Given the description of an element on the screen output the (x, y) to click on. 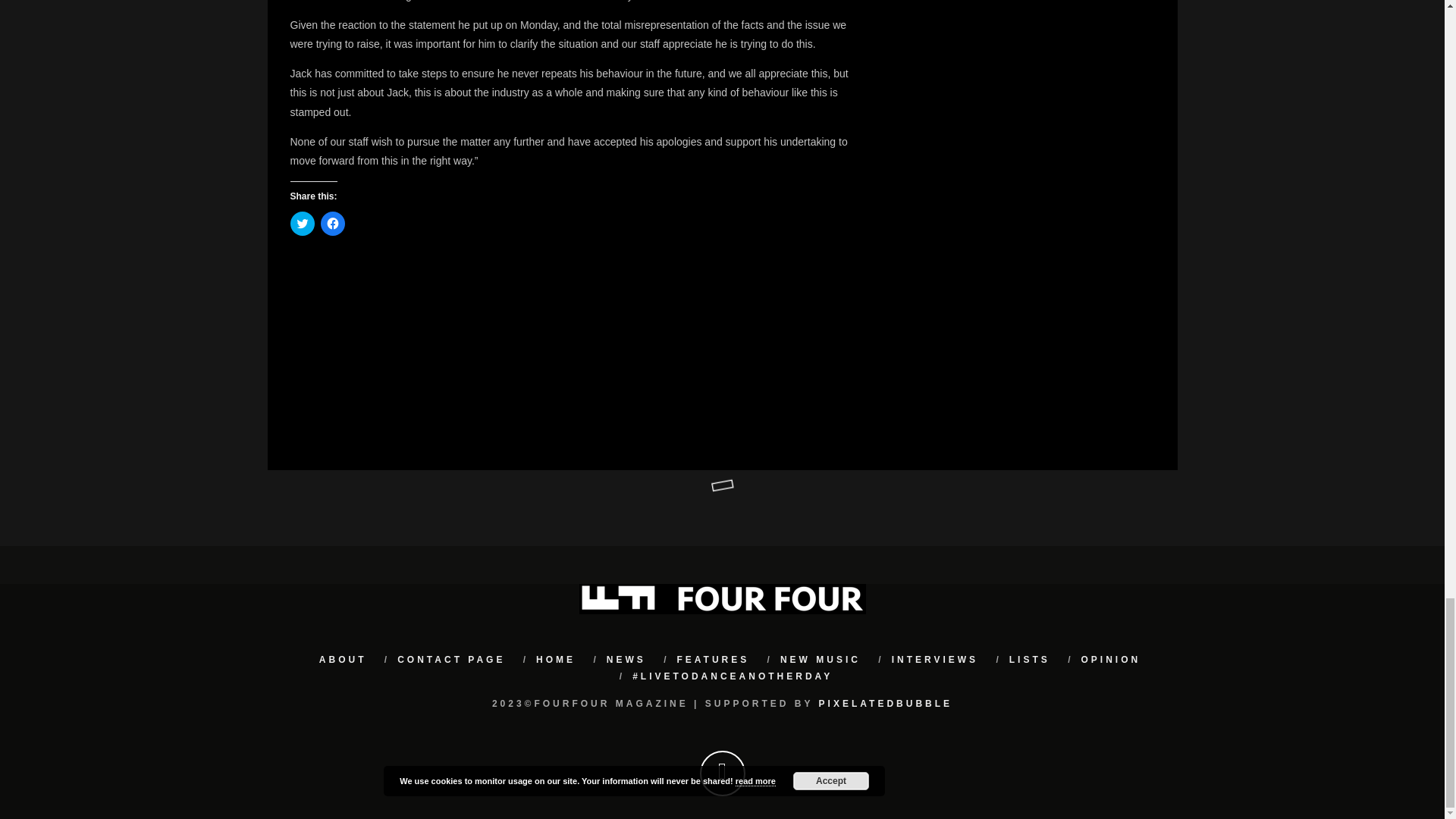
Click to share on Facebook (331, 223)
Click to share on Twitter (301, 223)
